Given the description of an element on the screen output the (x, y) to click on. 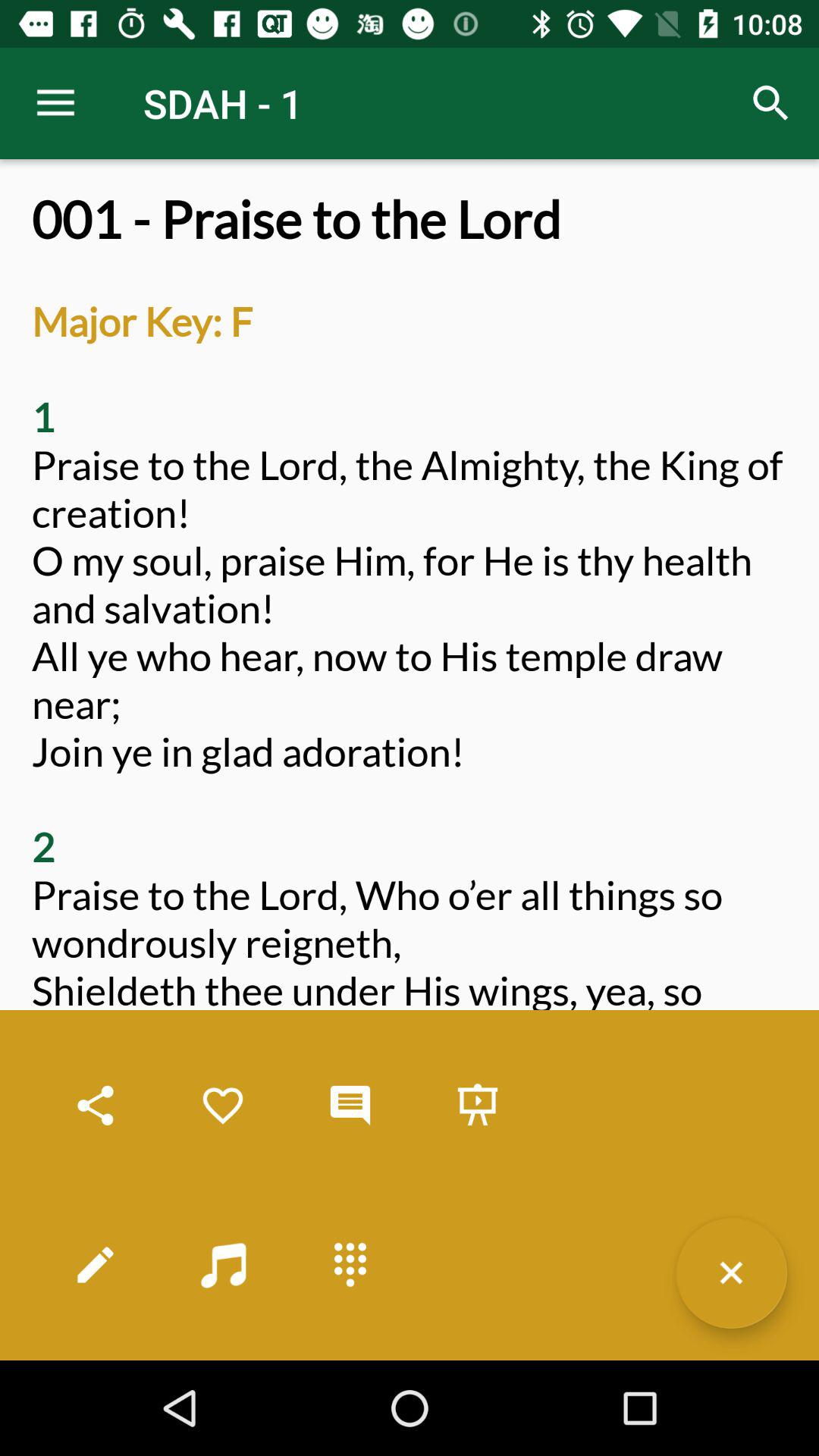
launch item next to sdah - 1 (771, 103)
